Given the description of an element on the screen output the (x, y) to click on. 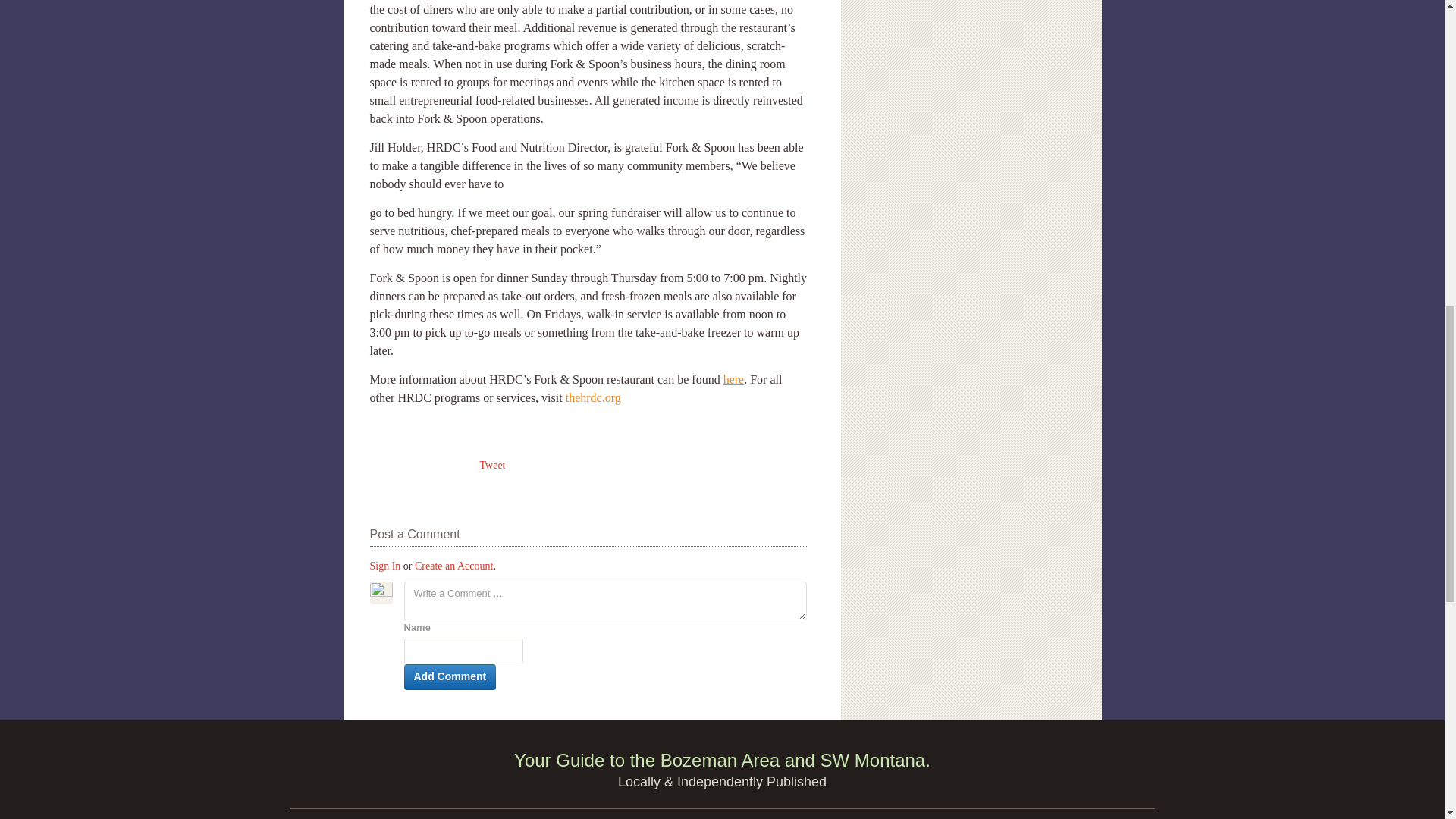
3rd party ad content (970, 36)
Page 1 (588, 101)
Page 2 (588, 324)
